Given the description of an element on the screen output the (x, y) to click on. 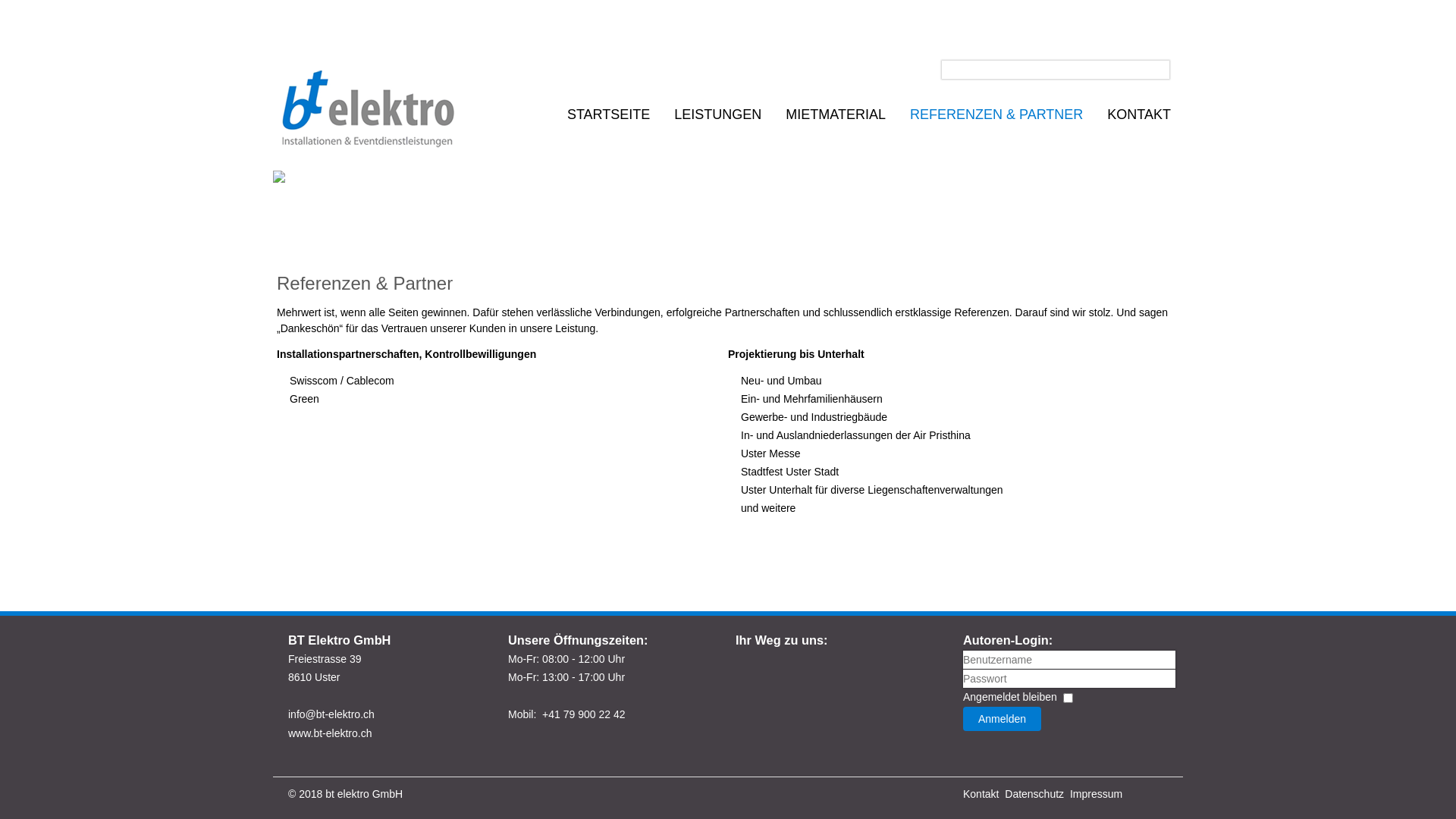
Datenschutz Element type: text (1033, 793)
KONTAKT Element type: text (1138, 114)
STARTSEITE Element type: text (608, 114)
REFERENZEN & PARTNER Element type: text (996, 114)
MIETMATERIAL Element type: text (835, 114)
Anmelden Element type: text (1002, 718)
LEISTUNGEN Element type: text (717, 114)
Kontakt Element type: text (980, 793)
Impressum Element type: text (1096, 793)
